Given the description of an element on the screen output the (x, y) to click on. 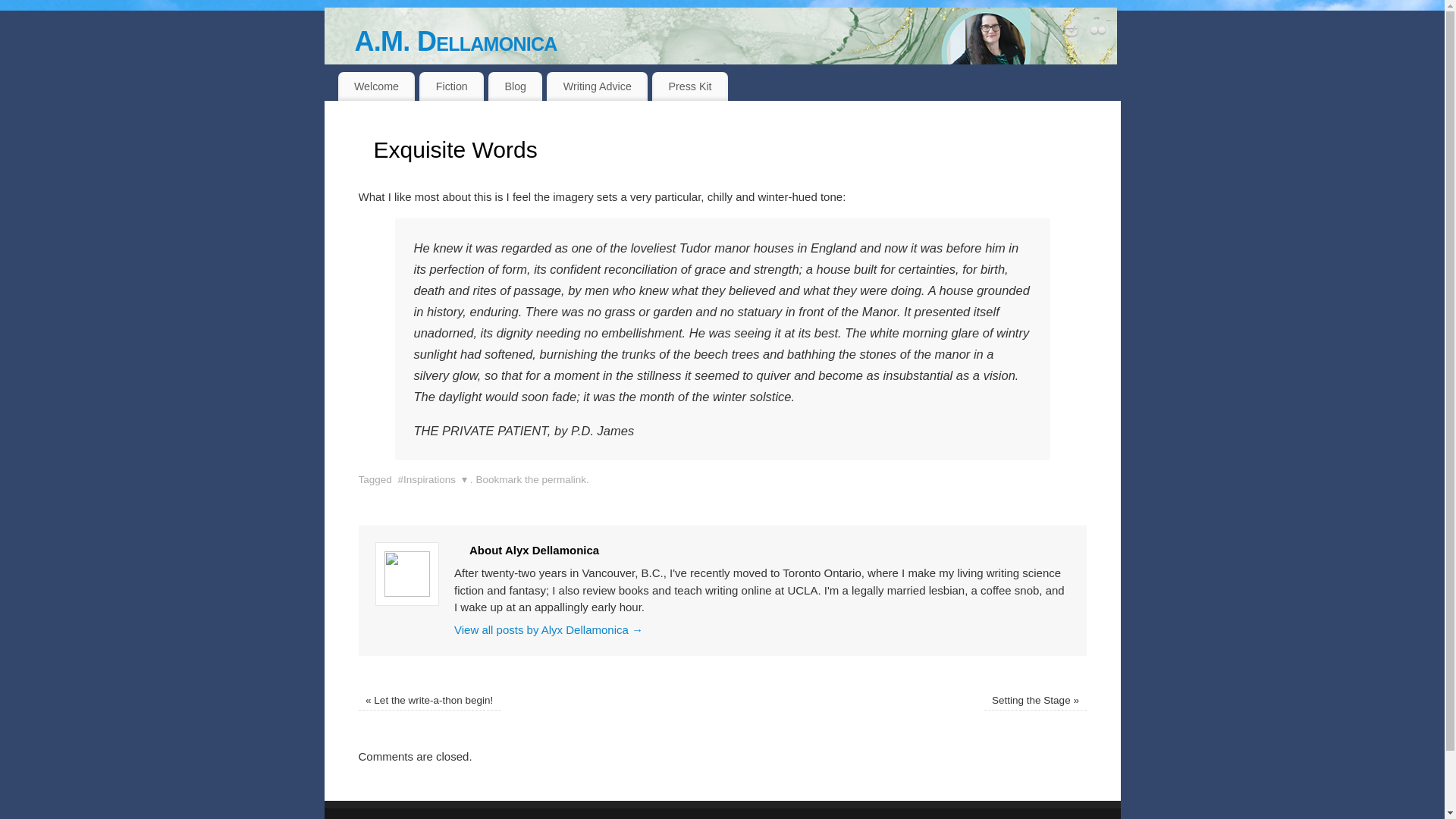
Blog (514, 86)
Permalink to Exquisite Words (563, 479)
Welcome (375, 86)
Fiction (451, 86)
Press Kit (690, 86)
A.M. Dellamonica (738, 41)
A.M. Dellamonica (738, 41)
permalink (563, 479)
Writing Advice (597, 86)
A.M. Dellamonica (720, 52)
